Given the description of an element on the screen output the (x, y) to click on. 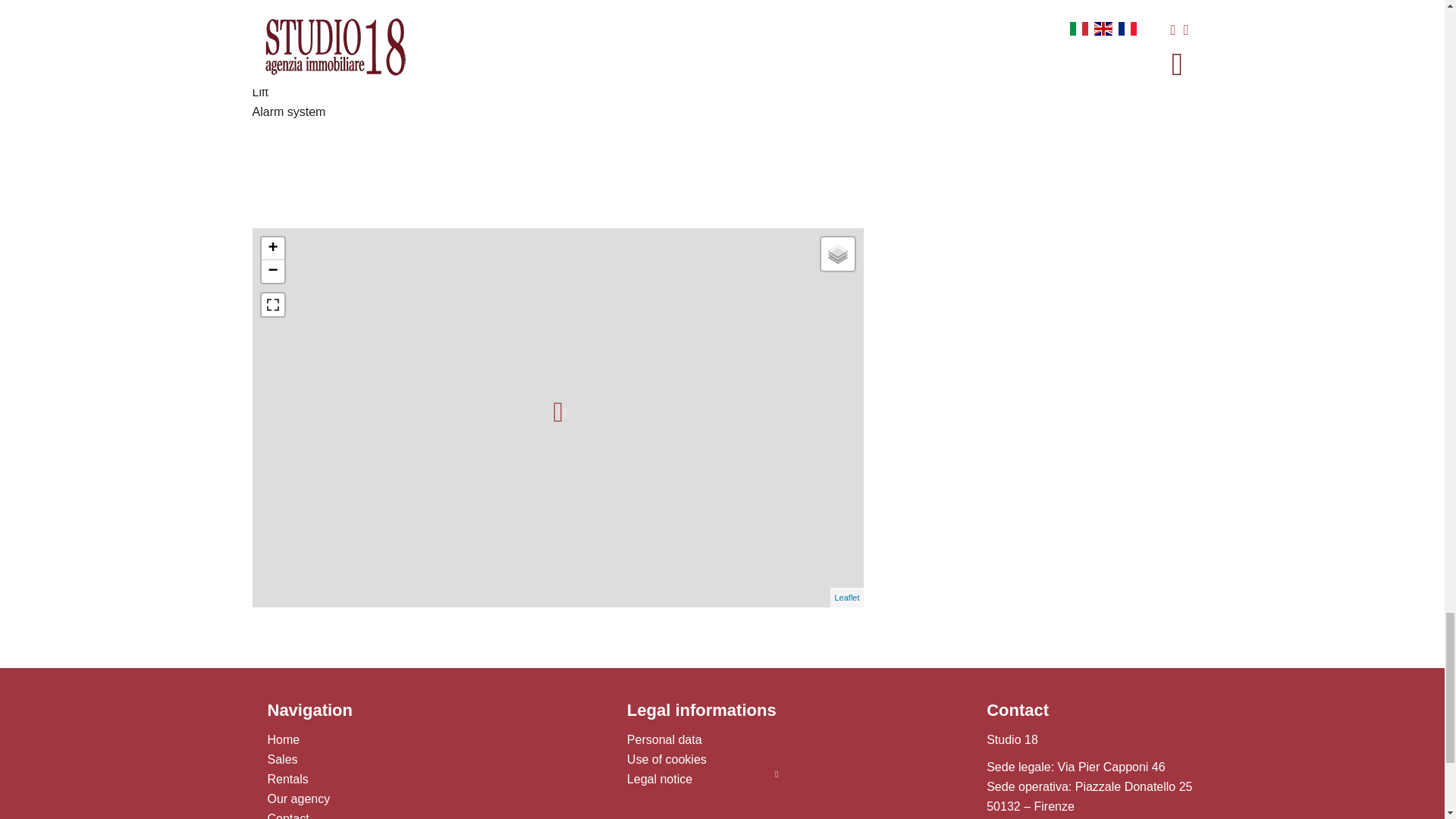
Zoom out (271, 271)
Use of cookies (666, 758)
Home (282, 739)
View Fullscreen (271, 304)
Rentals (286, 779)
Zoom in (271, 248)
Studio 18 (1012, 739)
Legal notice (660, 779)
Personal data (664, 739)
Sales (281, 758)
Layers (837, 254)
Contact (287, 815)
Leaflet (846, 596)
A JS library for interactive maps (846, 596)
Our agency (298, 798)
